Given the description of an element on the screen output the (x, y) to click on. 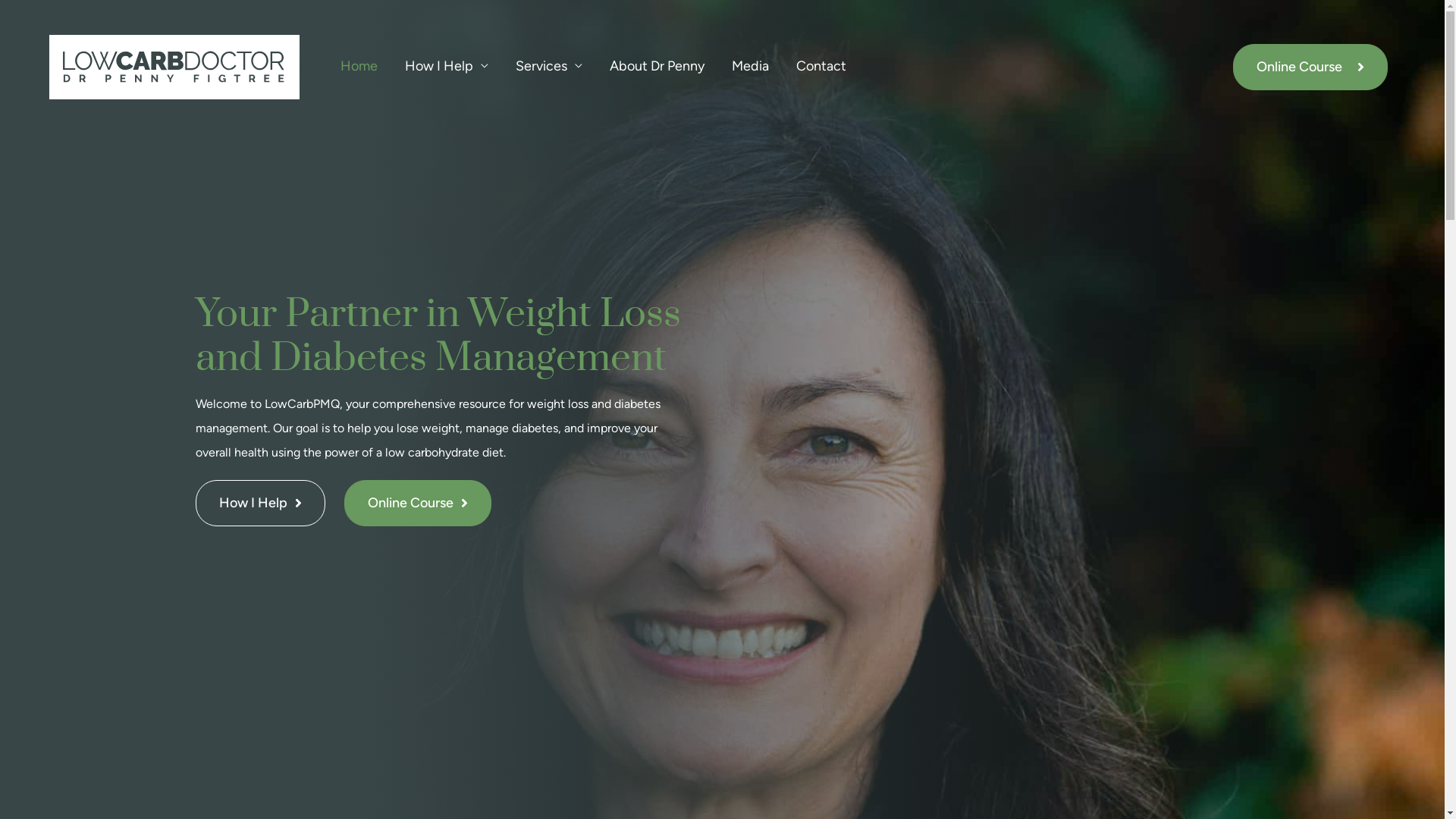
Online Course Element type: text (417, 503)
Contact Element type: text (820, 65)
Media Element type: text (750, 65)
About Dr Penny Element type: text (657, 65)
Online Course Element type: text (1310, 66)
Home Element type: text (358, 65)
How I Help Element type: text (446, 65)
How I Help Element type: text (260, 503)
Services Element type: text (549, 65)
